Given the description of an element on the screen output the (x, y) to click on. 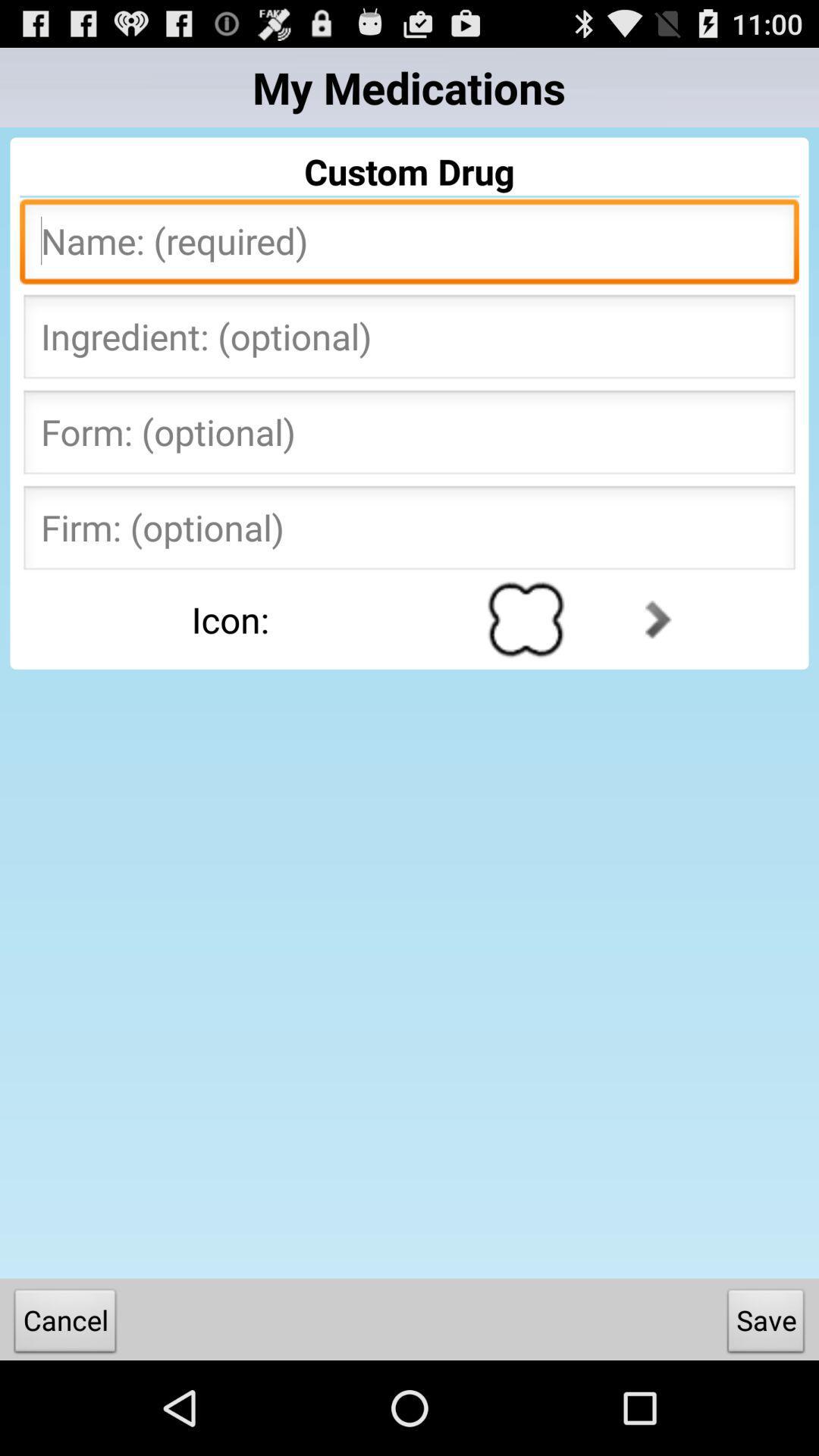
turn on cancel (65, 1324)
